Given the description of an element on the screen output the (x, y) to click on. 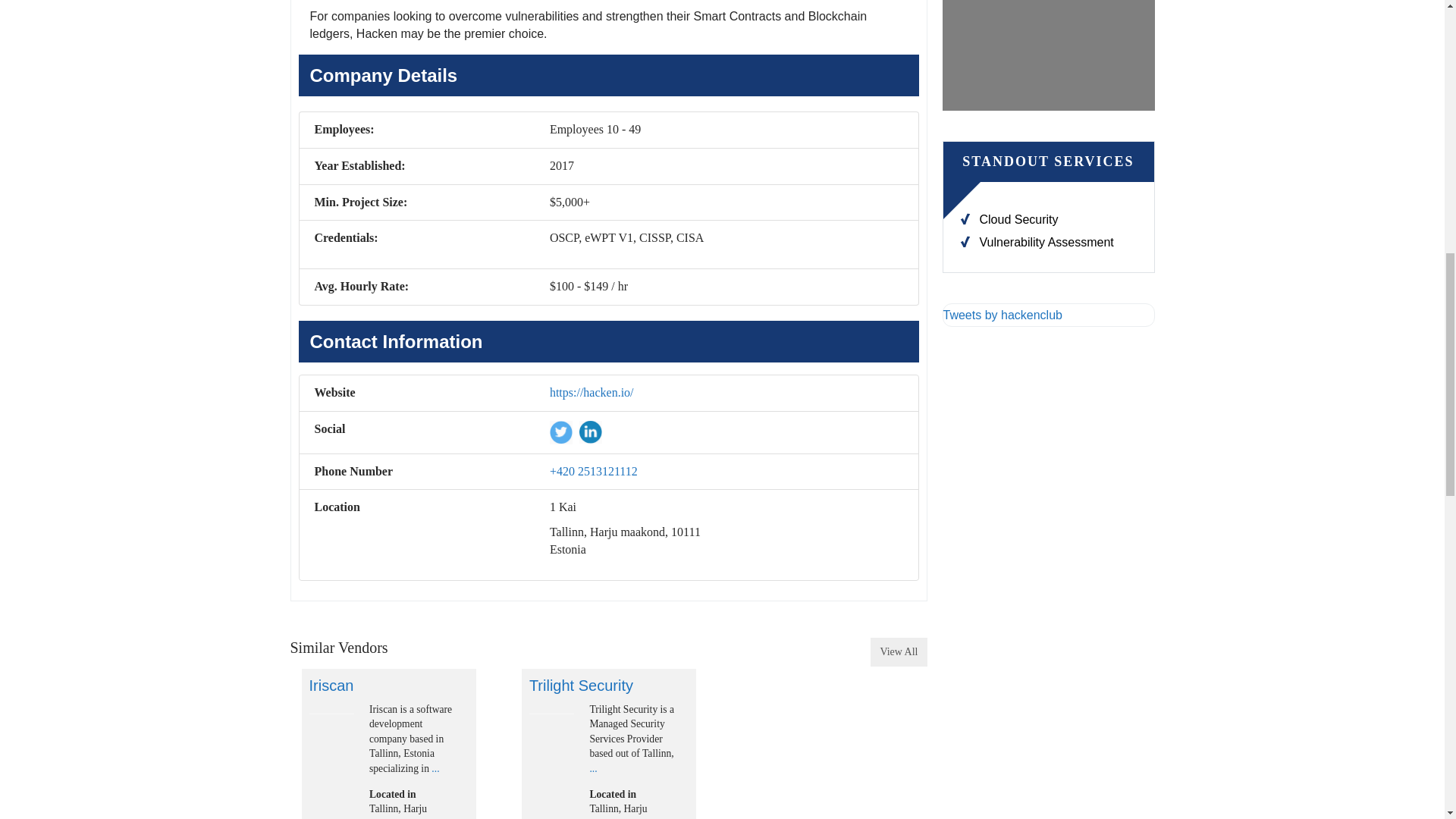
View: Iriscan (330, 685)
View: Trilight Security (581, 685)
Trilight Security (552, 713)
Iriscan (331, 713)
